Given the description of an element on the screen output the (x, y) to click on. 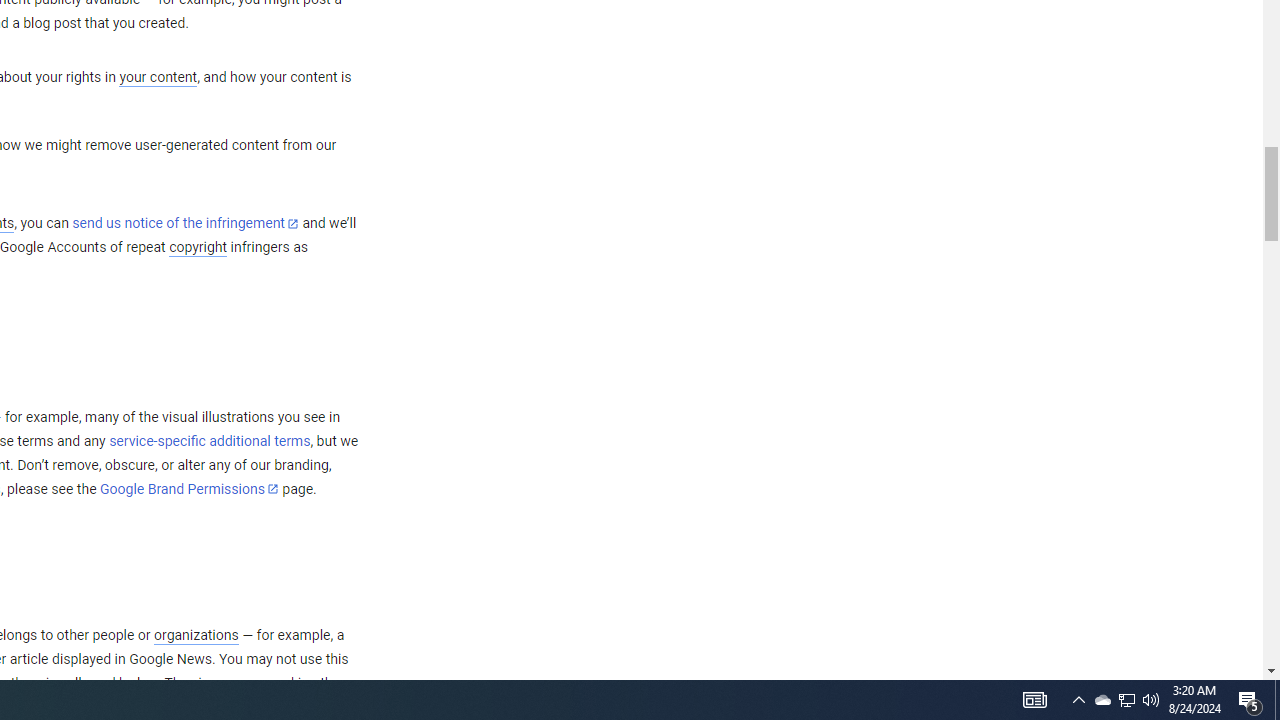
Google Brand Permissions (189, 489)
copyright (197, 248)
service-specific additional terms (209, 441)
organizations (196, 635)
your content (158, 78)
send us notice of the infringement (185, 224)
